Given the description of an element on the screen output the (x, y) to click on. 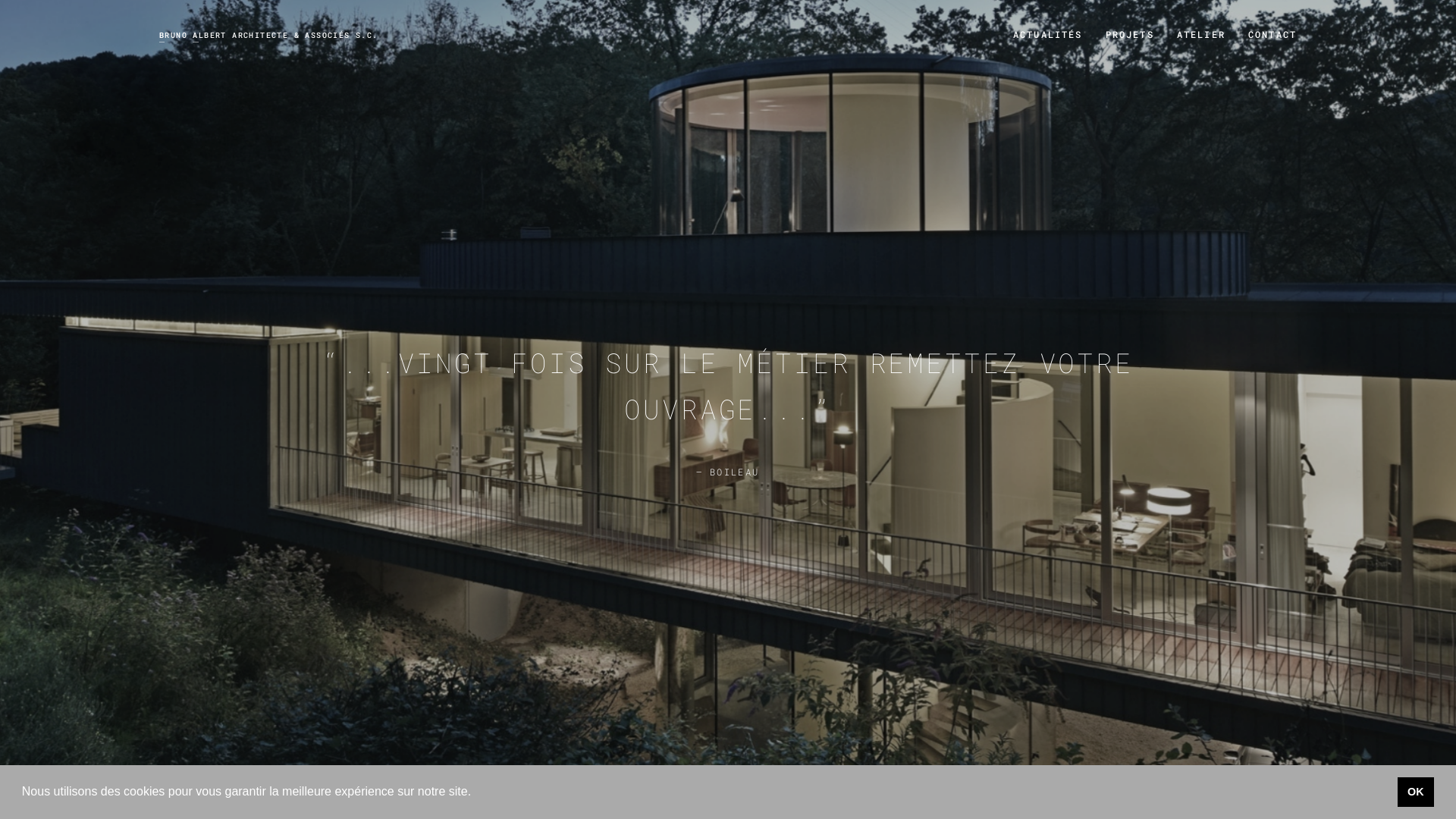
CONTACT Element type: text (1272, 34)
ATELIER Element type: text (1200, 34)
PROJETS Element type: text (1129, 34)
OK Element type: text (1415, 791)
